Given the description of an element on the screen output the (x, y) to click on. 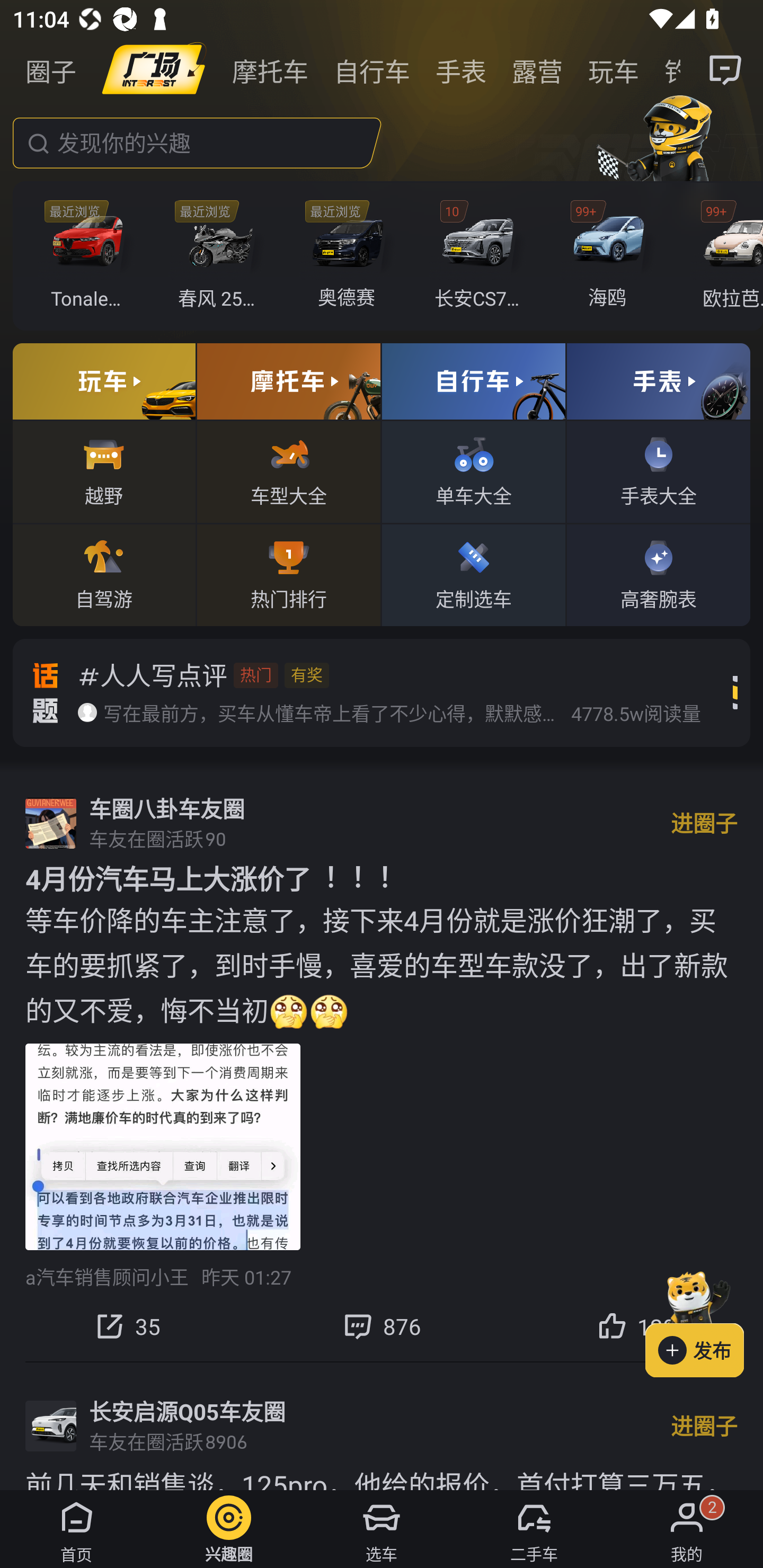
圈子 (50, 69)
image (153, 69)
摩托车 (269, 69)
自行车 (372, 69)
手表 (460, 69)
露营 (537, 69)
玩车 (613, 69)
 (726, 69)
Tonale托纳利 (90, 256)
春风 250SR (220, 256)
奥德赛 (351, 256)
10 长安CS75 PLUS (481, 256)
99+ 海鸥 (611, 256)
99+ 欧拉芭蕾猫 (726, 256)
越野 (103, 471)
车型大全 (288, 471)
单车大全 (473, 471)
手表大全 (658, 471)
自驾游 (103, 574)
热门排行 (288, 574)
定制选车 (473, 574)
高奢腕表 (658, 574)
车圈八卦车友圈 车友在圈活跃 90 进圈子 (381, 822)
发布 (704, 1320)
 35 (127, 1326)
 876 (381, 1326)
120 (635, 1326)
长安启源Q05车友圈 车友在圈活跃 8906 进圈子 (381, 1425)
 首页 (76, 1528)
兴趣圈 (228, 1528)
 选车 (381, 1528)
 二手车 (533, 1528)
 我的 (686, 1528)
